Given the description of an element on the screen output the (x, y) to click on. 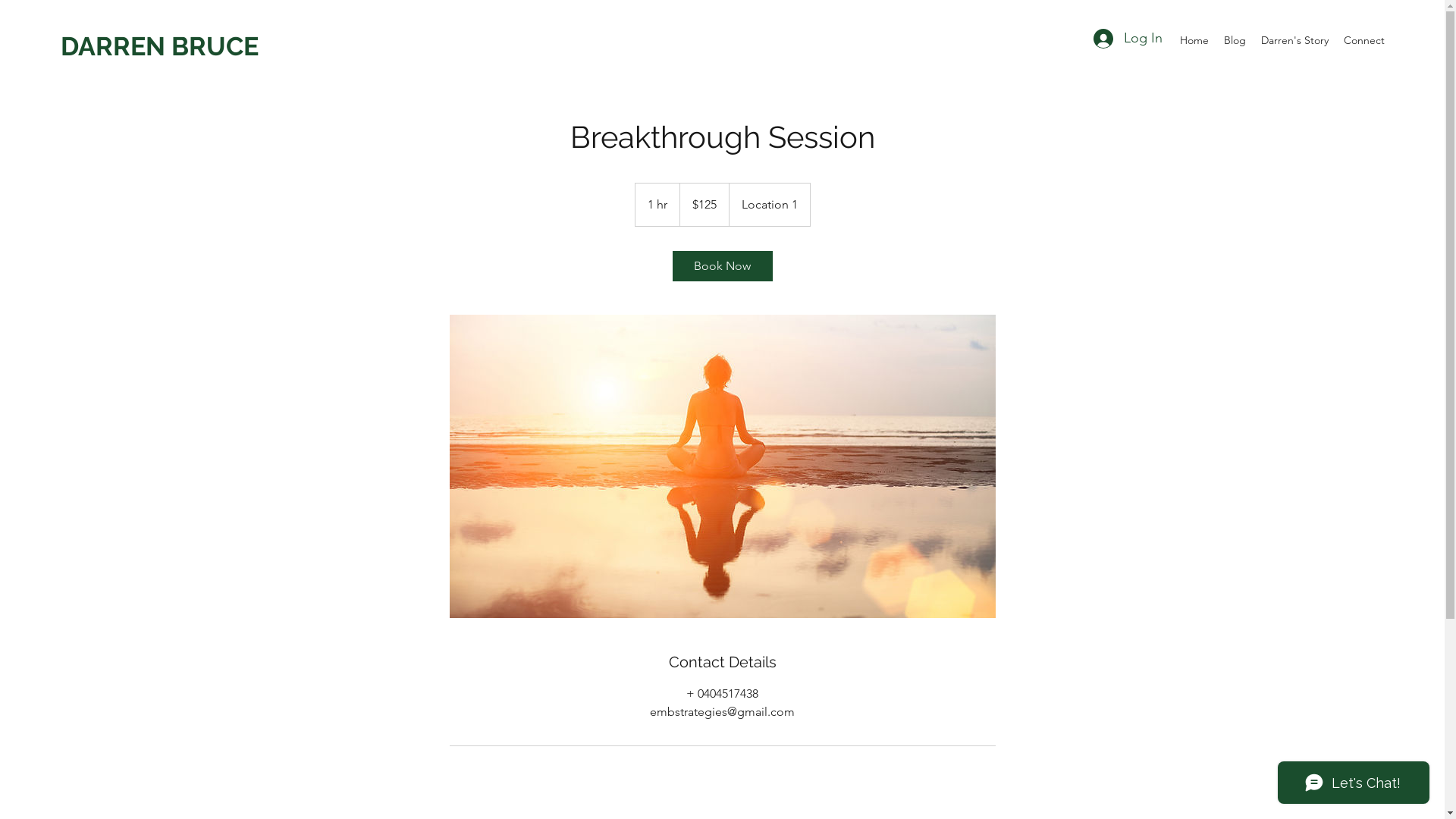
Blog Element type: text (1234, 39)
Log In Element type: text (1127, 38)
Book Now Element type: text (721, 266)
Connect Element type: text (1364, 39)
DARREN BRUCE Element type: text (159, 46)
Home Element type: text (1194, 39)
Darren's Story Element type: text (1294, 39)
